Given the description of an element on the screen output the (x, y) to click on. 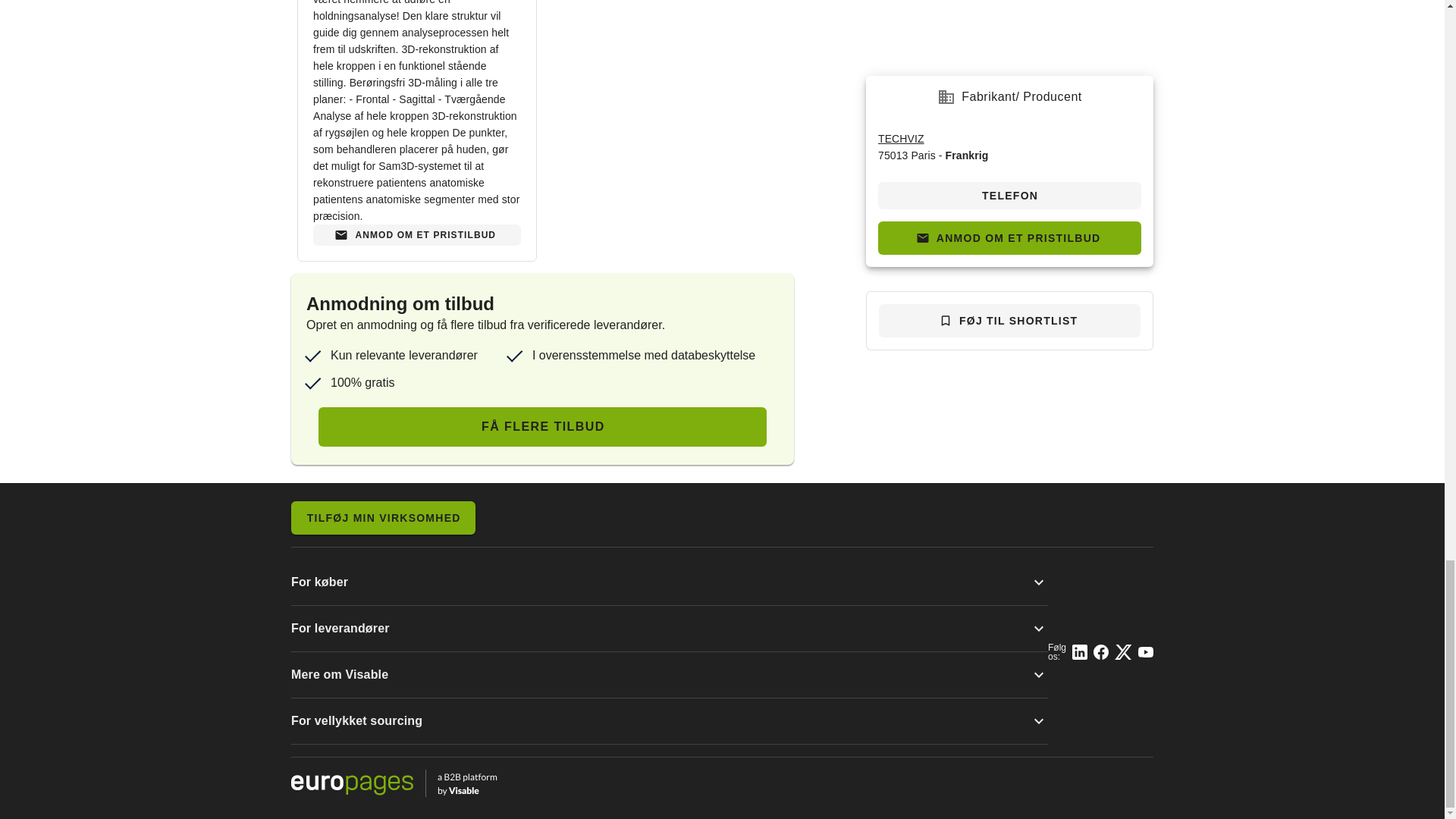
Facebook - europages (1100, 652)
Twitter - europages (1123, 652)
Youtube - europages (1145, 652)
Linkedin - europages (1079, 652)
